Given the description of an element on the screen output the (x, y) to click on. 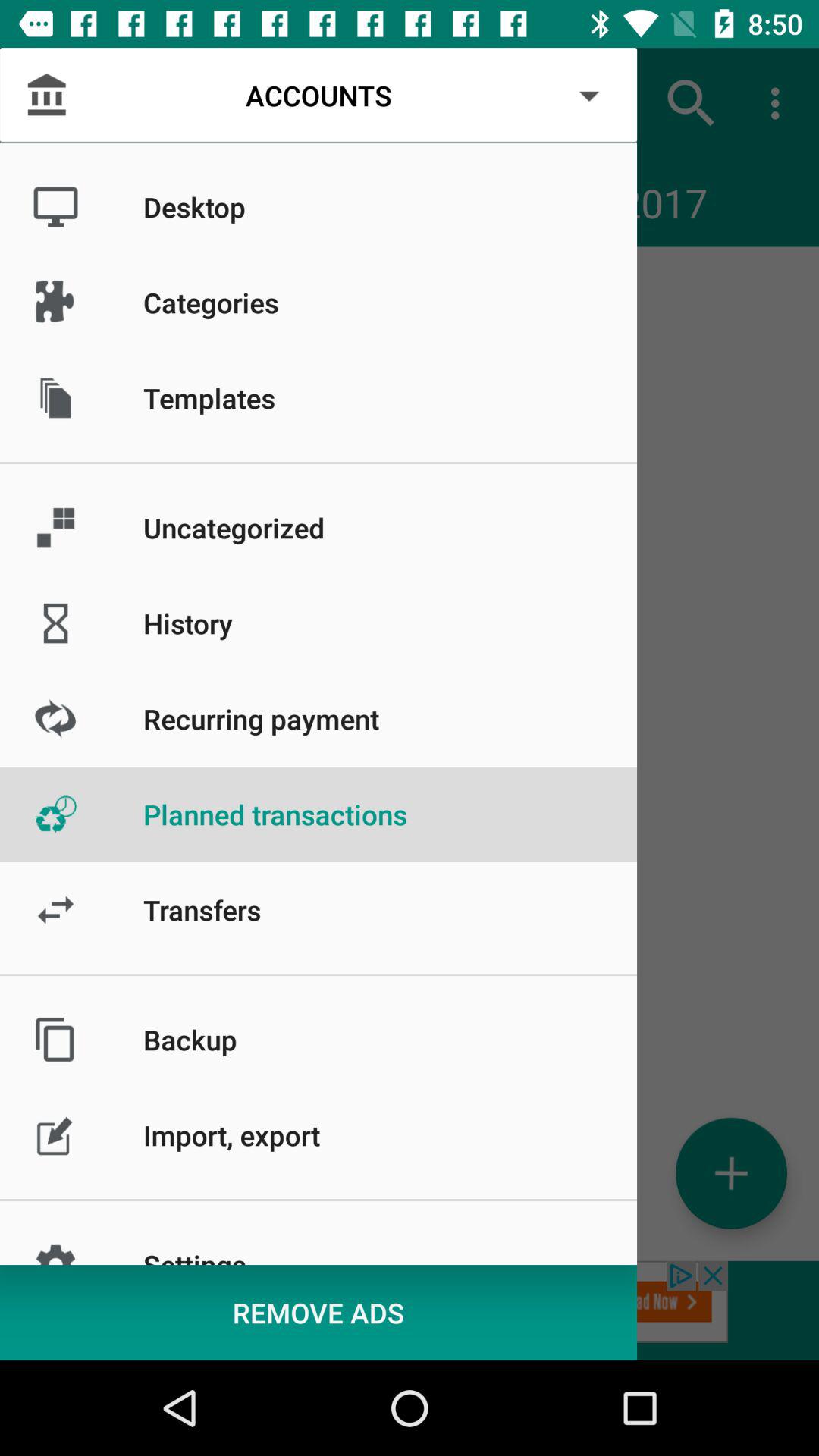
add symbol (731, 1173)
